Given the description of an element on the screen output the (x, y) to click on. 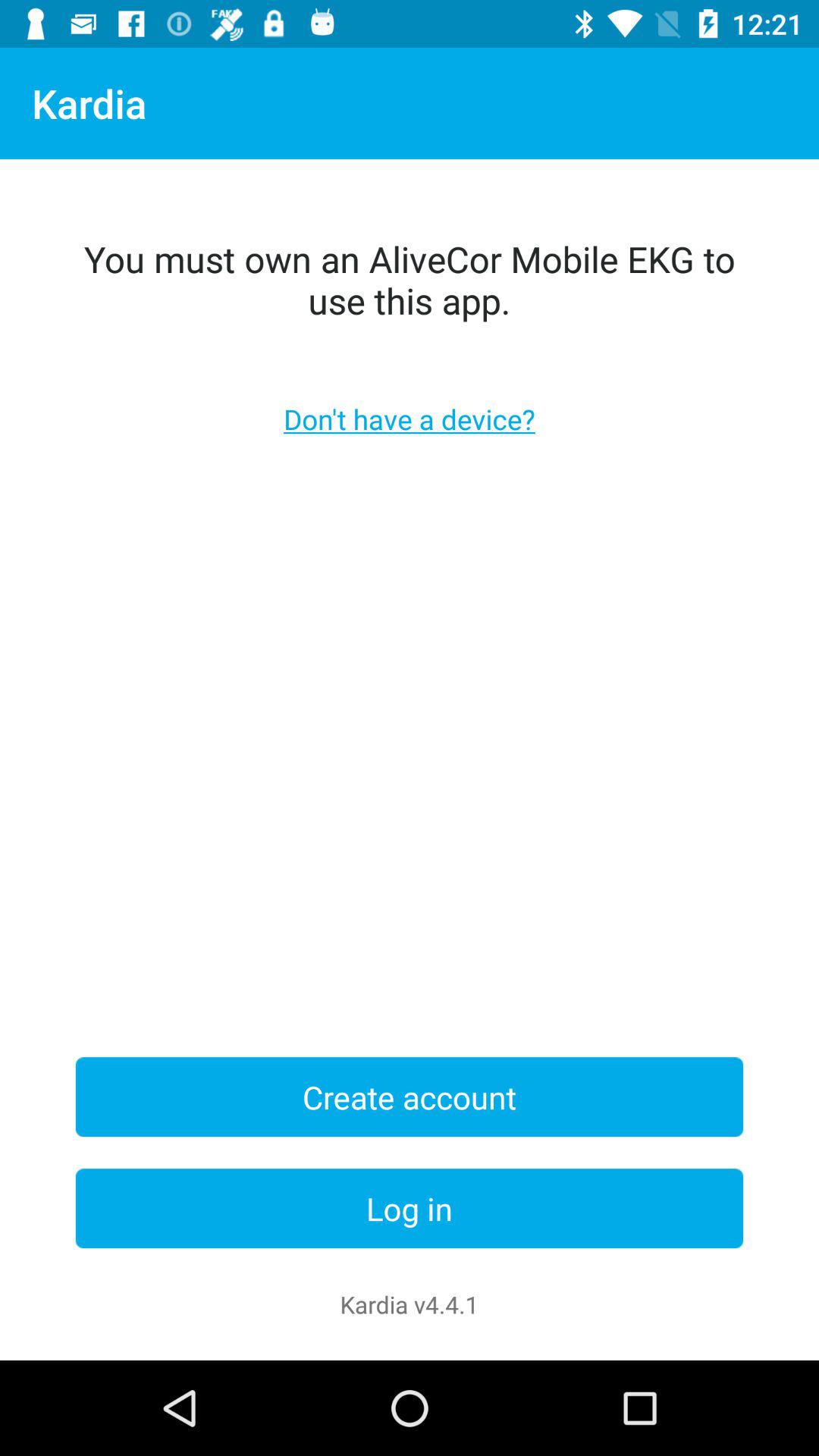
open icon below you must own icon (409, 418)
